Given the description of an element on the screen output the (x, y) to click on. 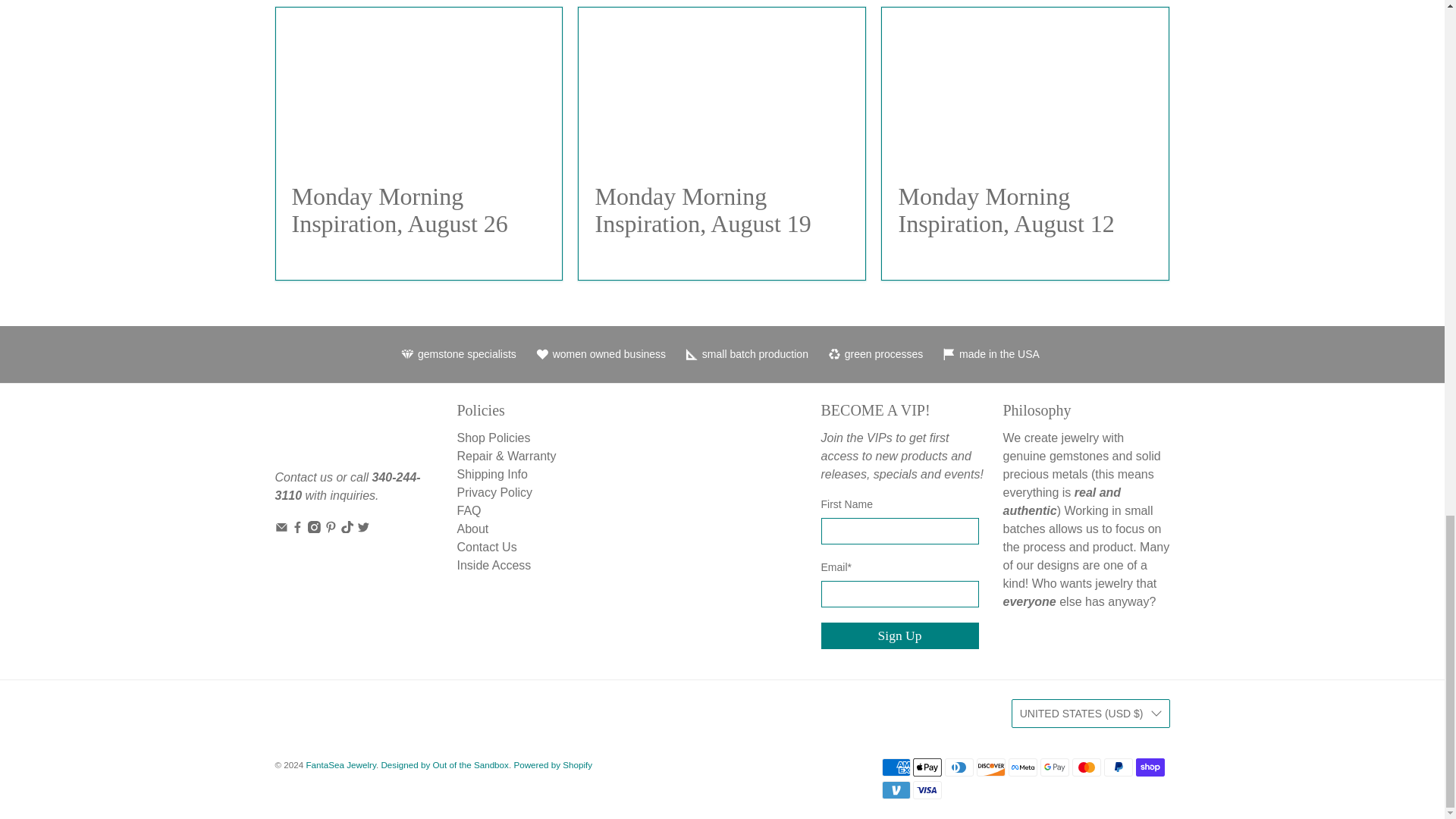
FantaSea Jewelry (324, 433)
Monday Morning Inspiration, August 12 (1005, 209)
Monday Morning Inspiration, August 26 (419, 87)
FantaSea Jewelry on Facebook (297, 528)
FantaSea Jewelry on Instagram (313, 528)
Monday Morning Inspiration, August 19 (721, 87)
Contact Us (303, 477)
FantaSea Jewelry on TikTok (346, 528)
Diners Club (959, 767)
FantaSea Jewelry on Pinterest (330, 528)
